Given the description of an element on the screen output the (x, y) to click on. 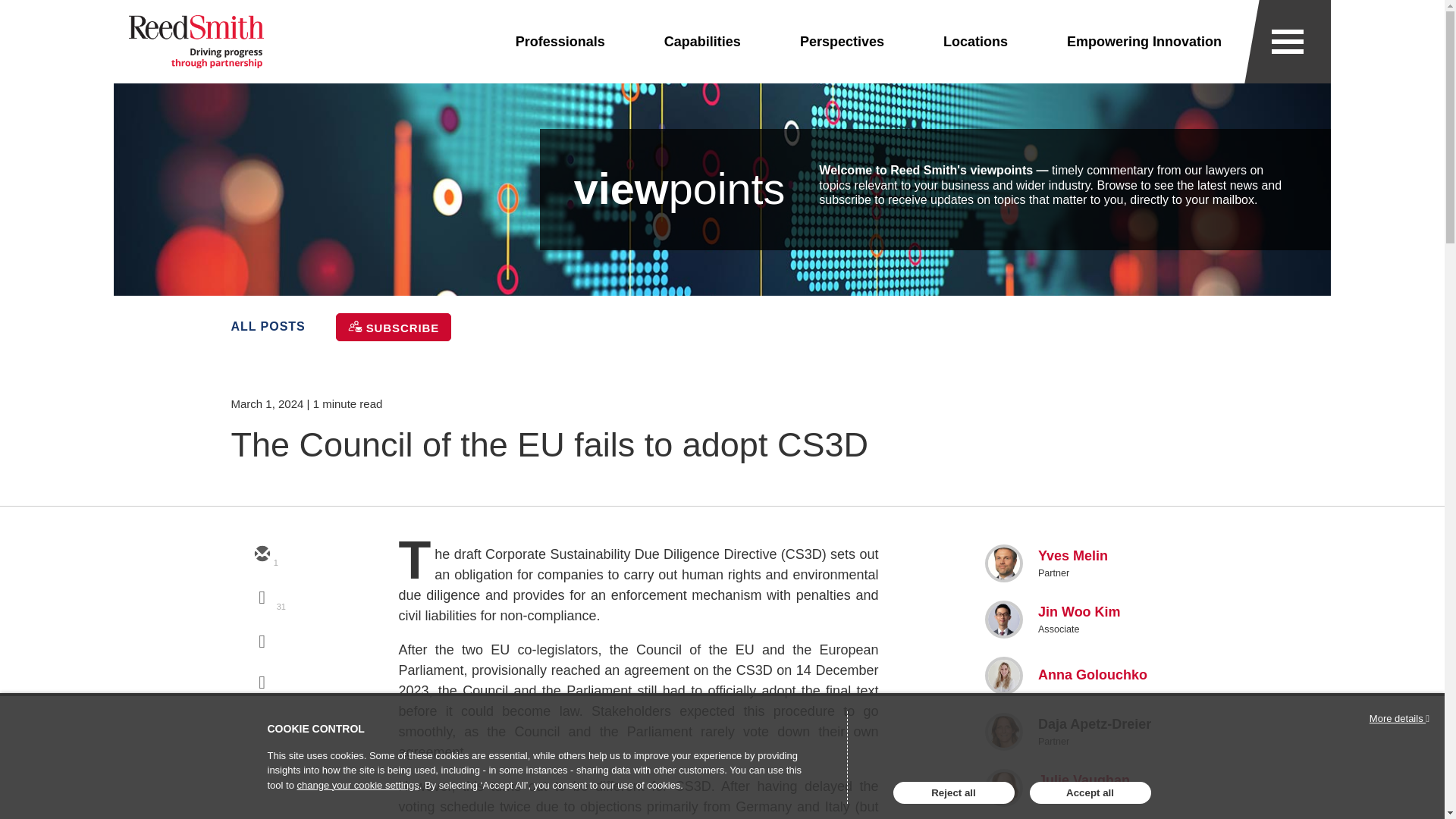
Locations (975, 41)
Capabilities (702, 41)
Perspectives (842, 41)
Empowering Innovation (1144, 41)
Professionals (559, 41)
SUBSCRIBE (393, 326)
ALL POSTS (267, 326)
